Given the description of an element on the screen output the (x, y) to click on. 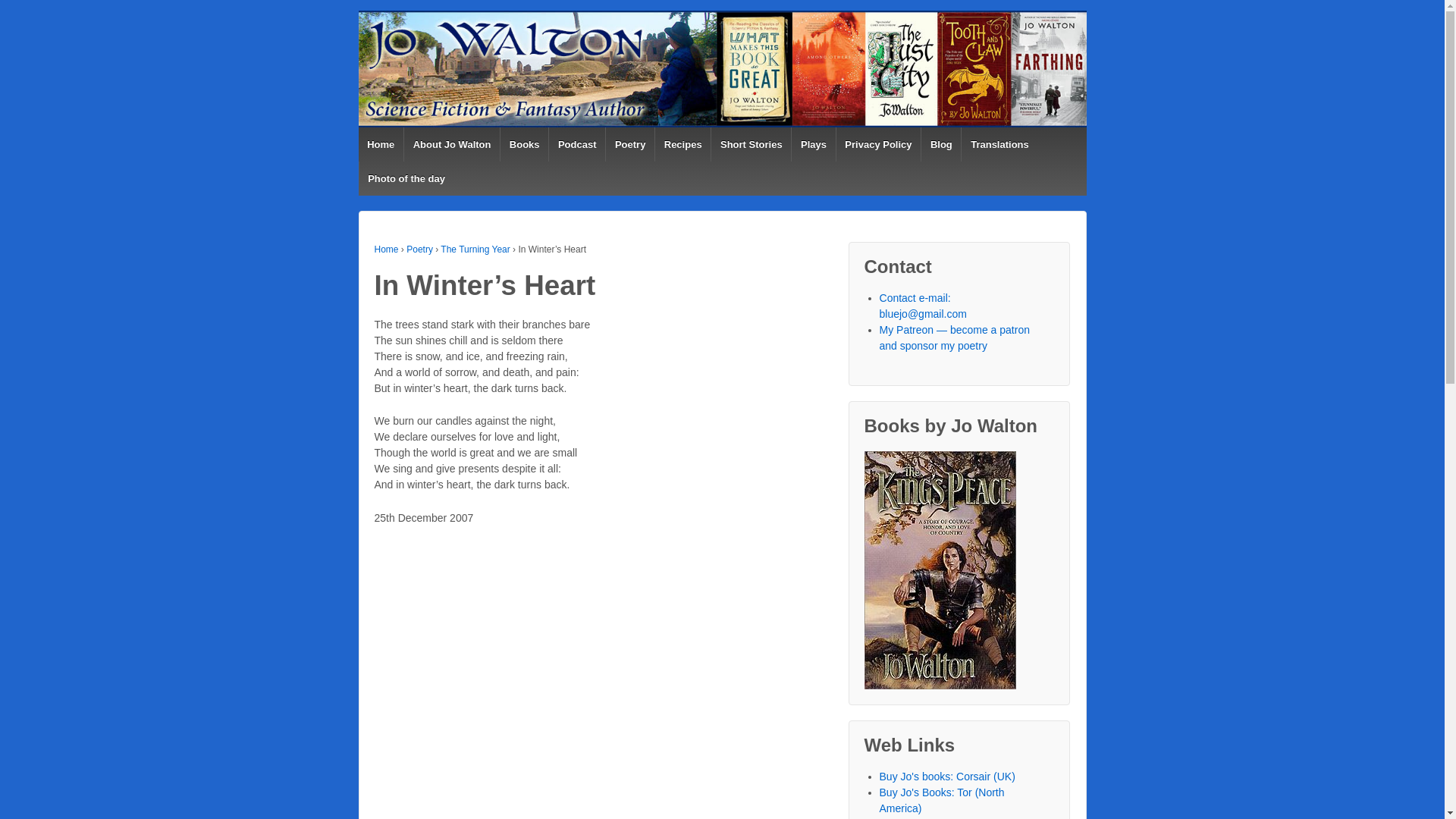
Home (380, 144)
Podcast (576, 144)
Poetry (629, 144)
Books (523, 144)
About Jo Walton (451, 144)
